Given the description of an element on the screen output the (x, y) to click on. 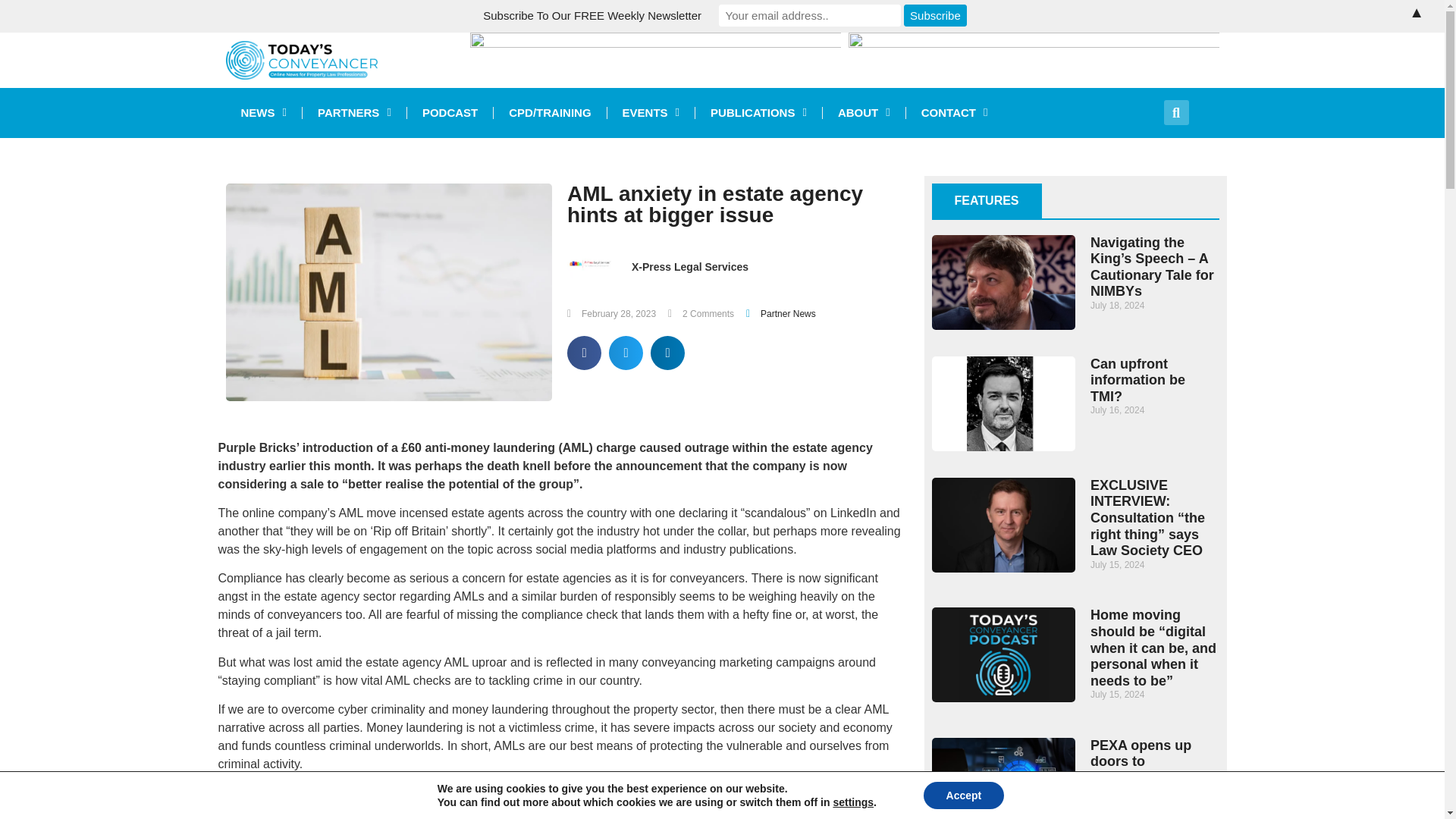
PUBLICATIONS (758, 112)
NEWS (263, 112)
CONTACT (954, 112)
Subscribe (936, 15)
EVENTS (651, 112)
ABOUT (863, 112)
PARTNERS (354, 112)
PODCAST (450, 112)
